Given the description of an element on the screen output the (x, y) to click on. 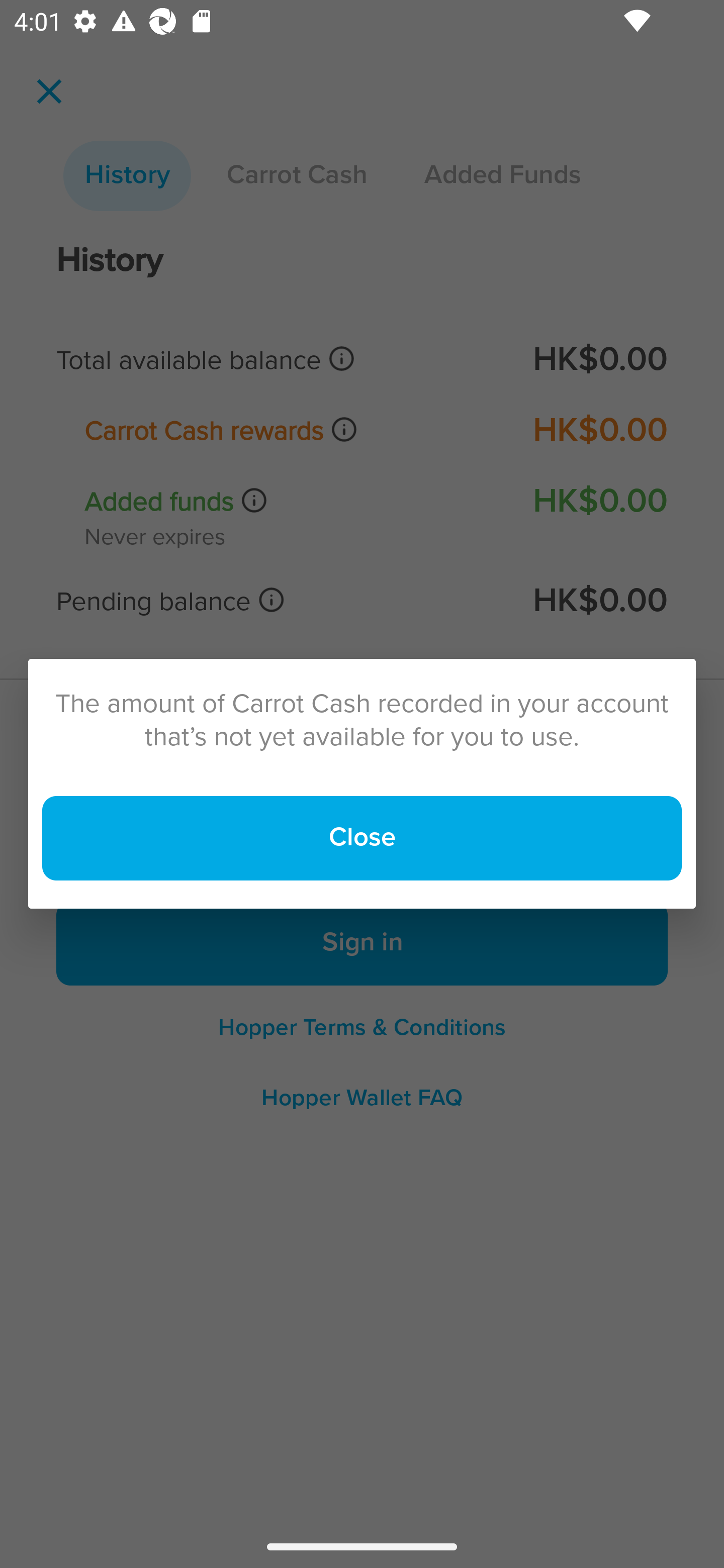
‍Close (361, 838)
